Given the description of an element on the screen output the (x, y) to click on. 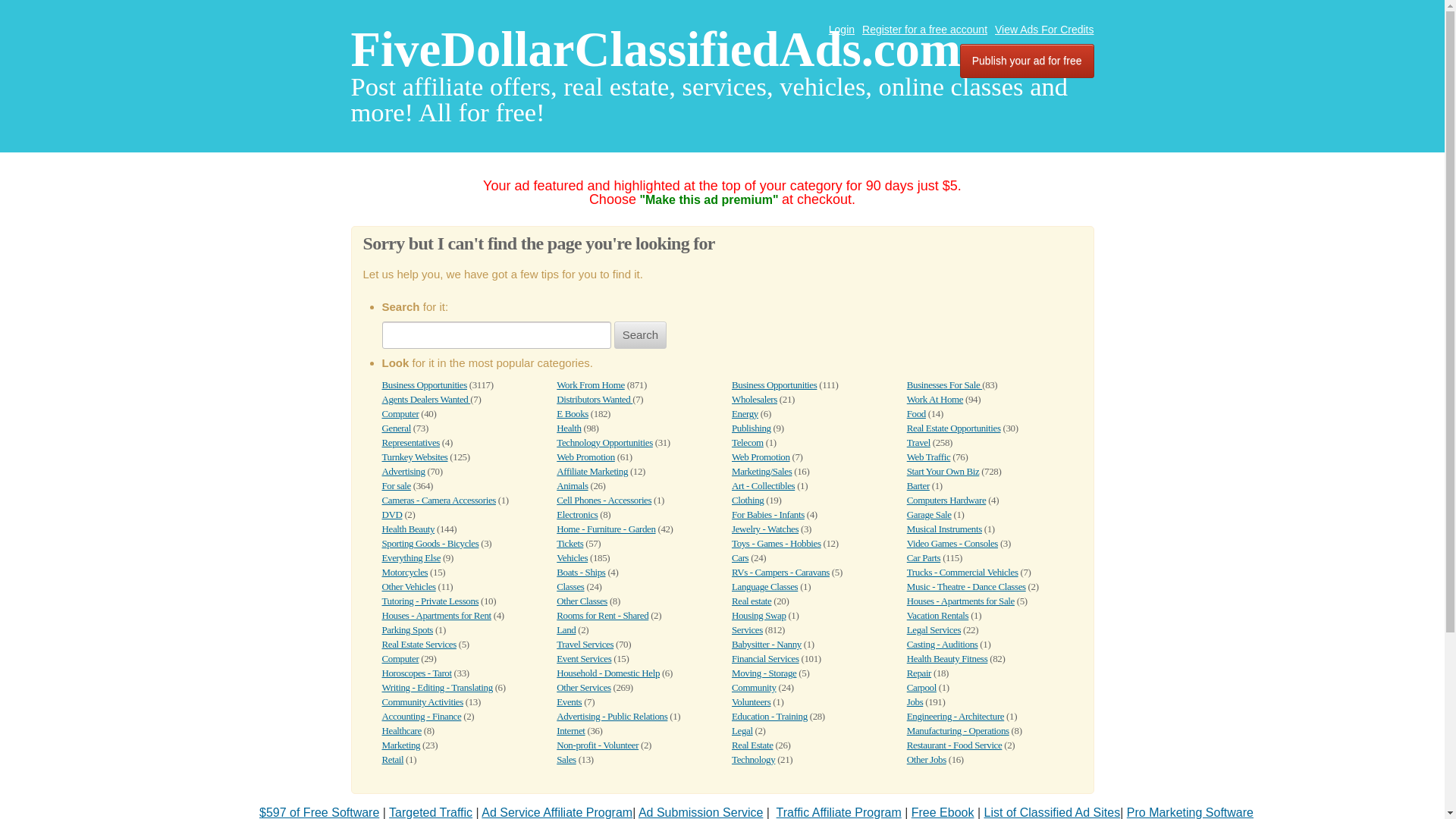
Web Traffic (928, 456)
Health (568, 428)
Businesses For Sale (944, 384)
General (395, 428)
Cell Phones - Accessories (603, 500)
Work At Home (934, 398)
Login (841, 29)
Search (640, 334)
Turnkey Websites (414, 456)
Food (916, 413)
FiveDollarClassifiedAds.com (655, 49)
Web Promotion (761, 456)
Art - Collectibles (763, 485)
Wholesalers (754, 398)
Agents Dealers Wanted (425, 398)
